Given the description of an element on the screen output the (x, y) to click on. 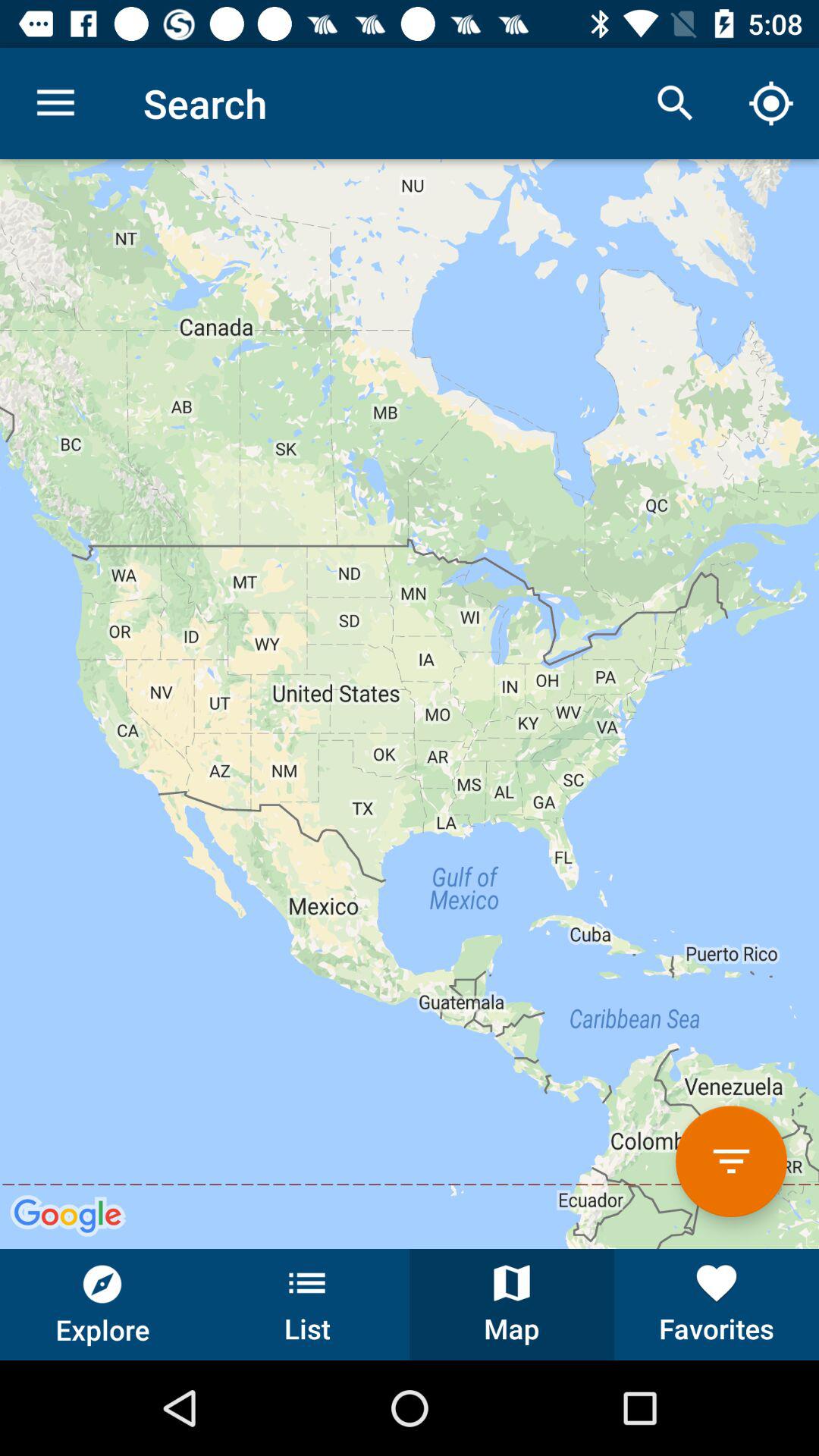
more options (731, 1161)
